Given the description of an element on the screen output the (x, y) to click on. 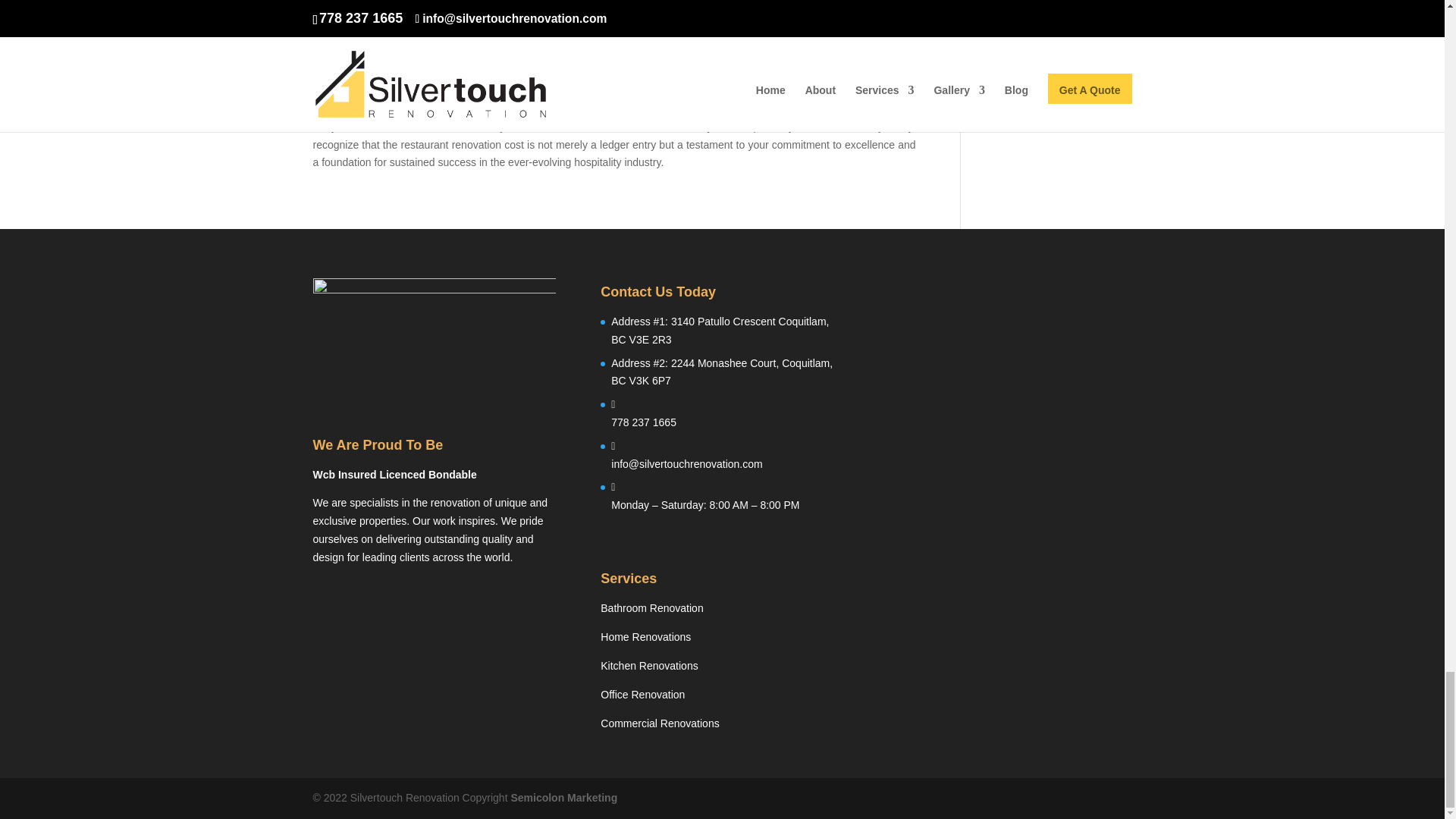
Kitchen Renovation Services (648, 665)
Home Renovation Service (644, 636)
Office Renovation  (641, 694)
Bathroom Renovation (651, 607)
Commercial Property Renovations (659, 723)
